Given the description of an element on the screen output the (x, y) to click on. 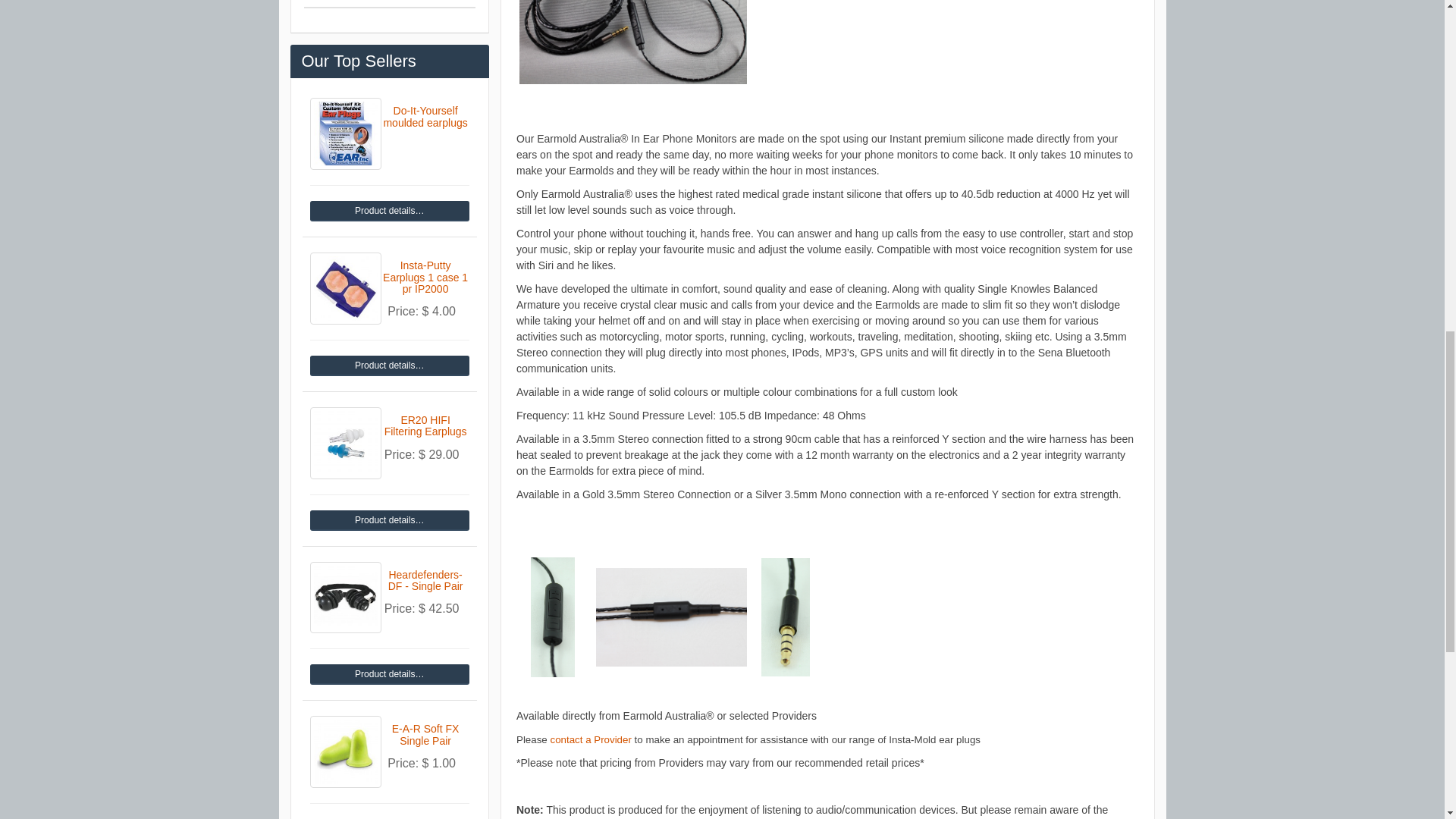
Heardefenders-DF - Single Pair (344, 597)
Do-It-Yourself moulded earplugs (388, 210)
Do-It-Yourself moulded earplugs (344, 133)
ER20 HIFI Filtering Earplugs (344, 443)
Insta-Putty Earplugs 1 case 1 pr IP2000 (388, 365)
ER20 HIFI Filtering Earplugs (388, 520)
Heardefenders-DF - Single Pair (388, 674)
Insta-Putty Earplugs 1 case 1 pr IP2000 (344, 288)
E-A-R Soft FX Single Pair (344, 751)
